Given the description of an element on the screen output the (x, y) to click on. 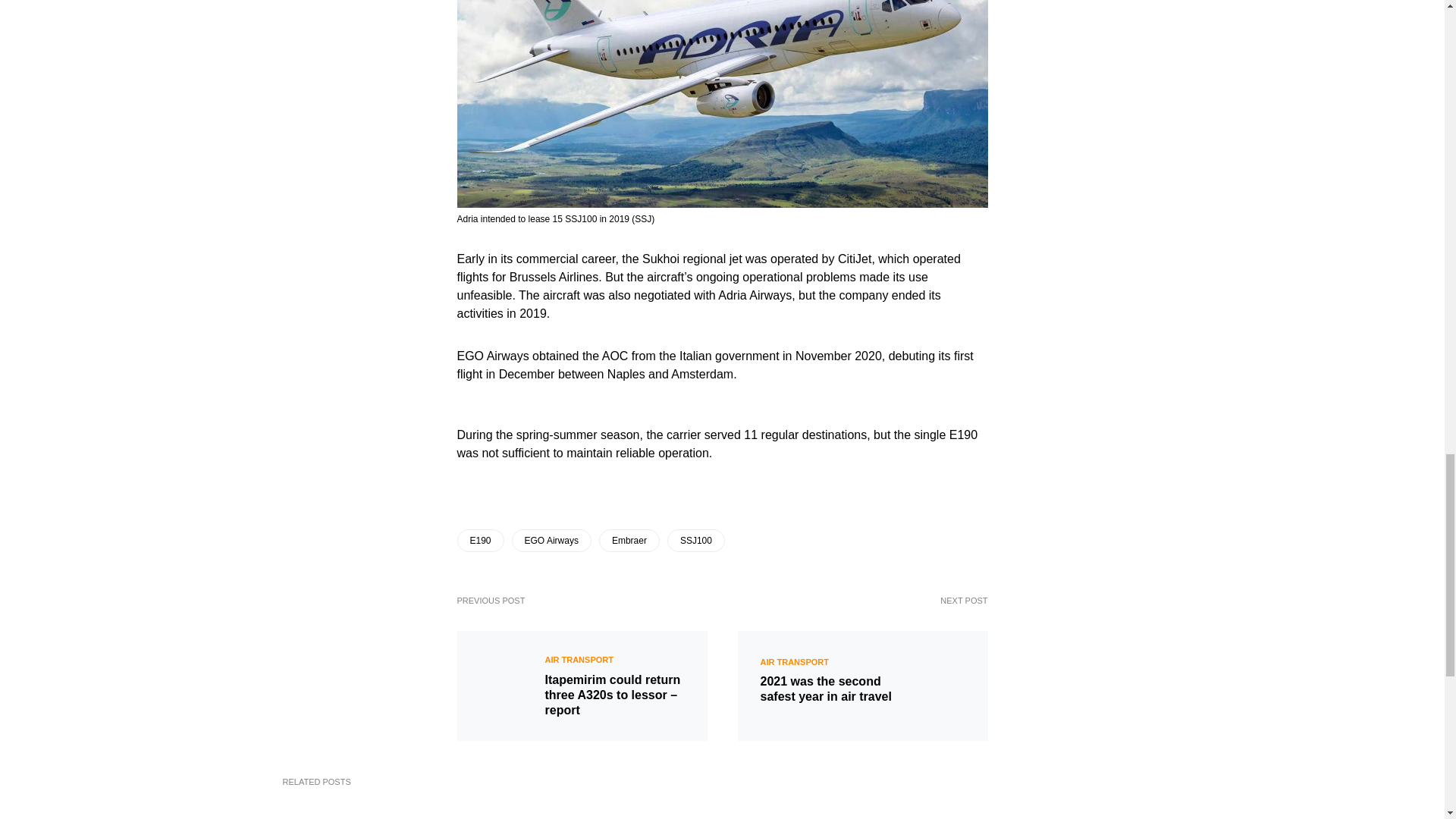
SSJ100 (695, 540)
EGO Airways (551, 540)
Embraer (628, 540)
E190 (480, 540)
AIR TRANSPORT (578, 659)
